Given the description of an element on the screen output the (x, y) to click on. 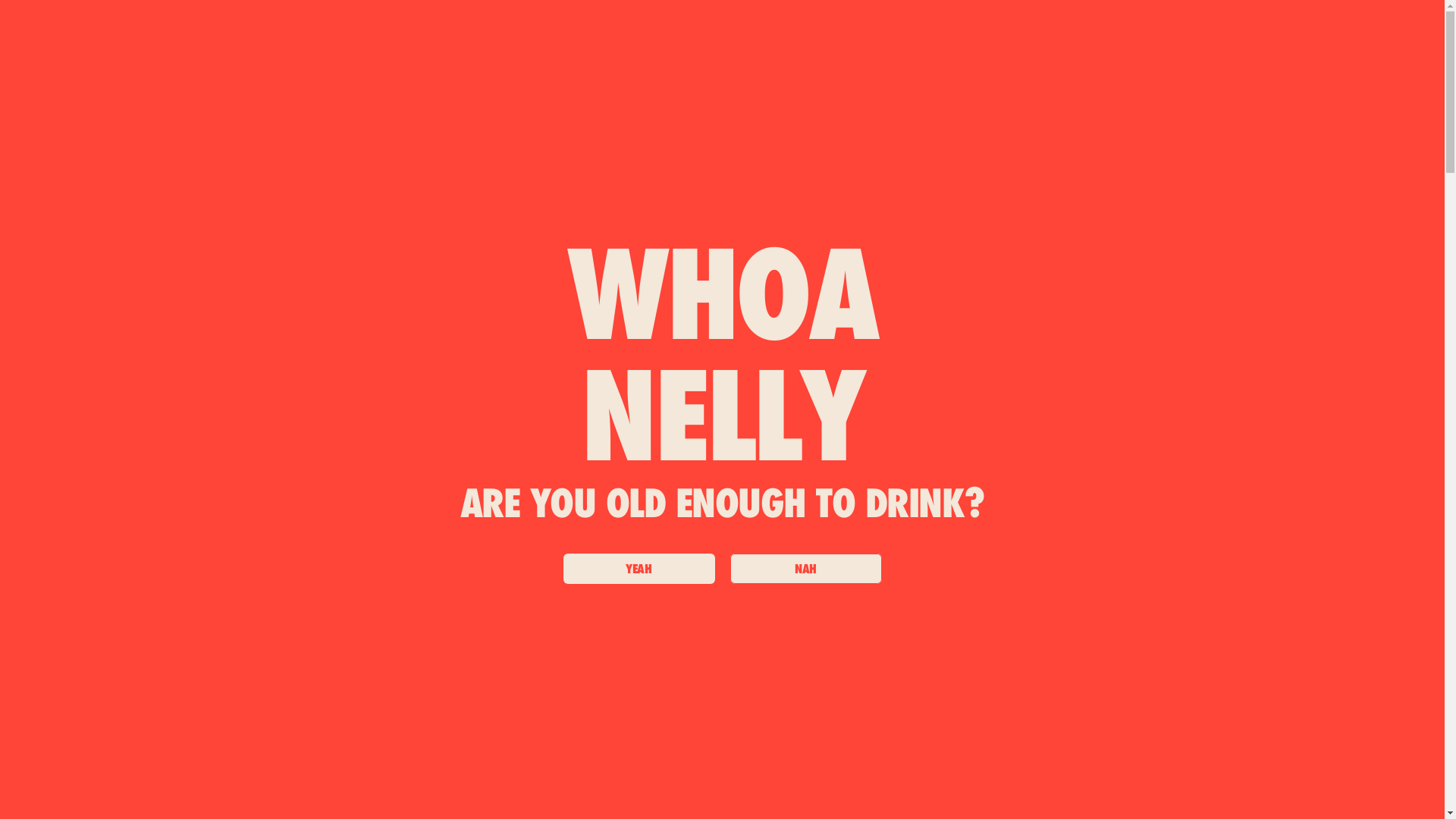
NAH Element type: text (805, 568)
Search Element type: hover (1277, 75)
HOME Element type: text (372, 134)
BREWERS BRUNCH Element type: text (852, 134)
VENUES Element type: text (510, 134)
FUNCTIONS Element type: text (601, 133)
Log in Element type: hover (1322, 75)
FAQS Element type: text (684, 134)
CONTACT Element type: text (1050, 134)
NAH Element type: text (804, 568)
Cart Element type: hover (1366, 75)
SHOP Element type: text (439, 133)
STOCKISTS Element type: text (966, 134)
YEAH Element type: text (638, 568)
EVENTS Element type: text (746, 134)
